Given the description of an element on the screen output the (x, y) to click on. 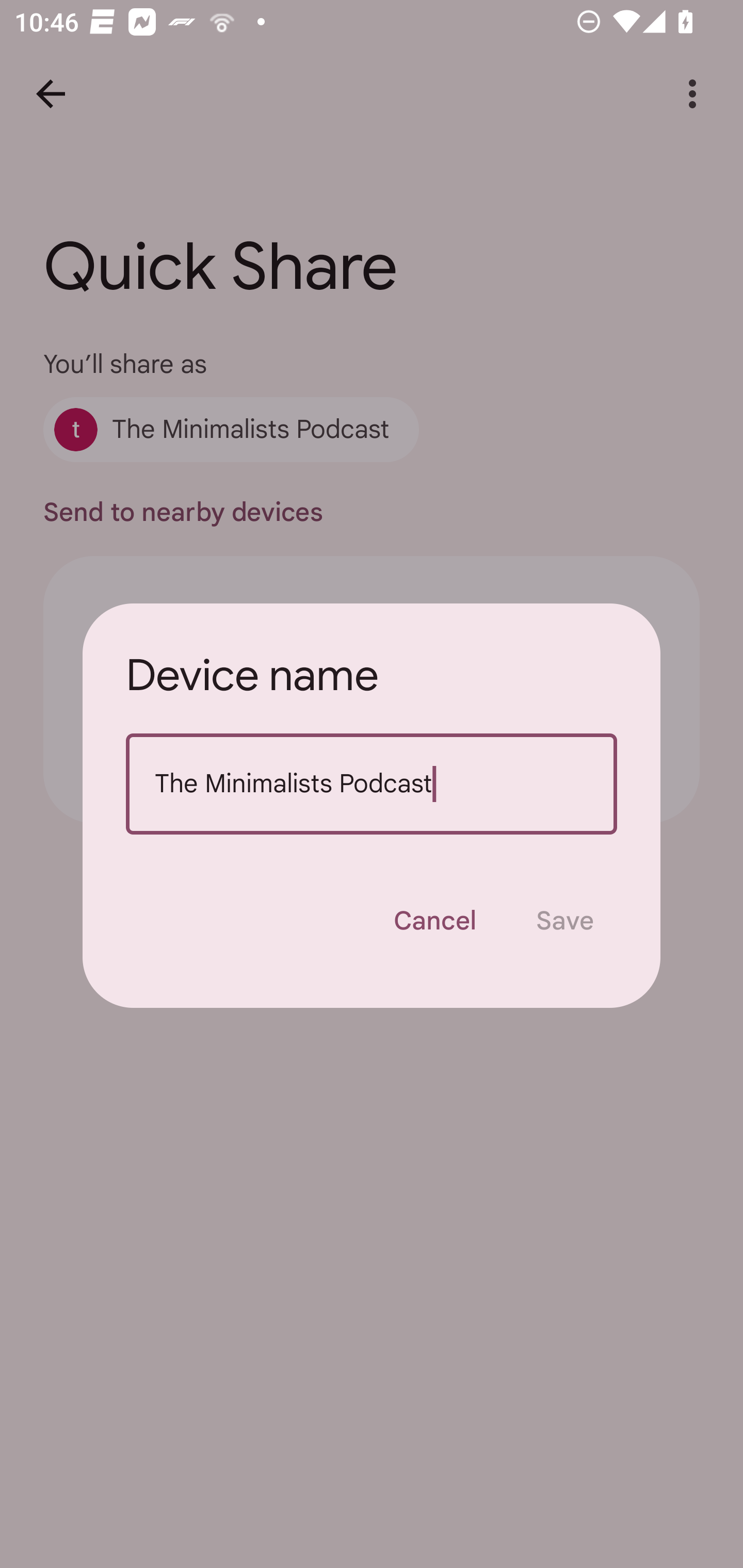
The Minimalists Podcast Device name (371, 783)
Cancel (434, 921)
Save (564, 921)
